Given the description of an element on the screen output the (x, y) to click on. 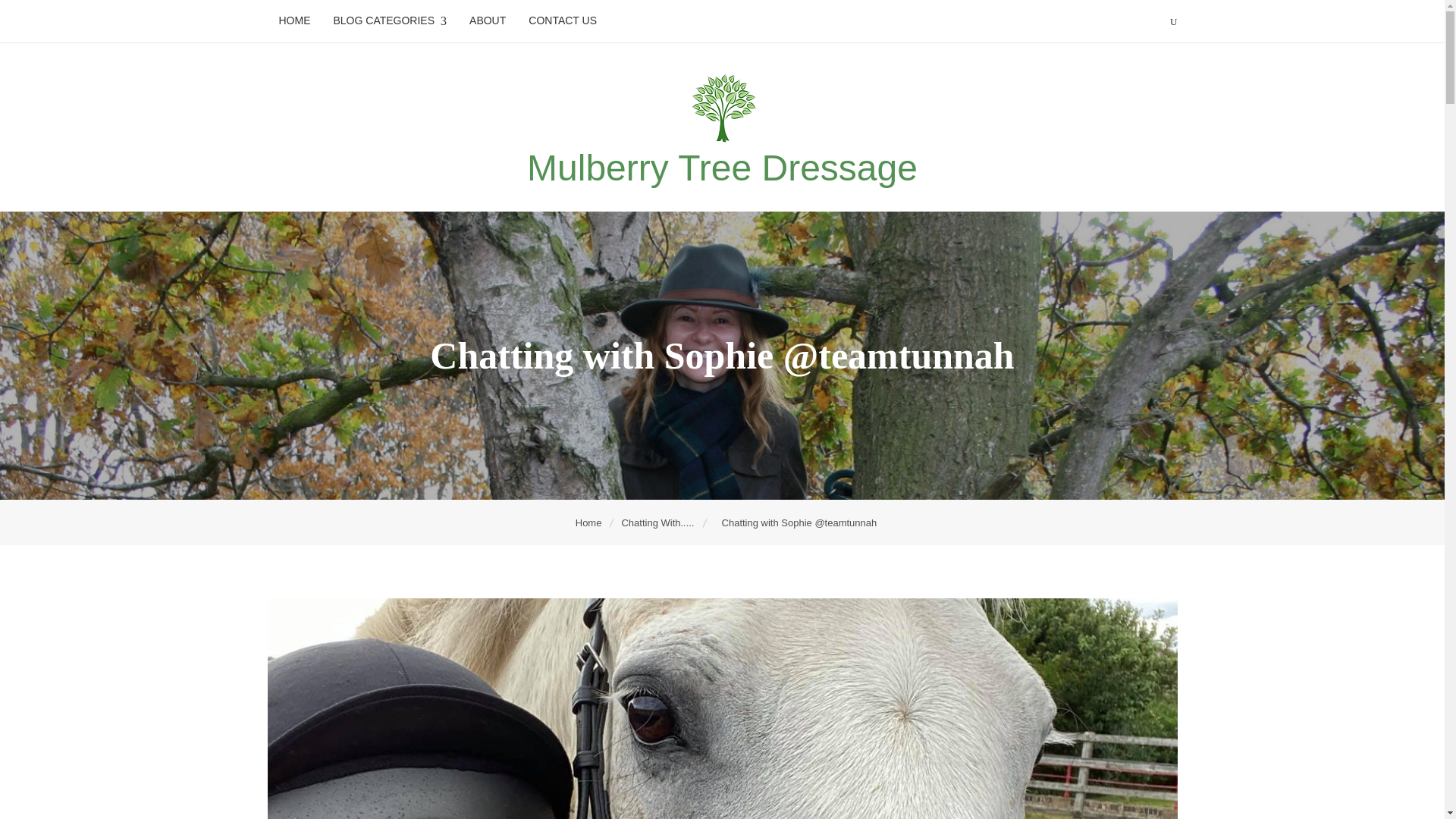
HOME (293, 20)
Home (589, 522)
Search (113, 15)
Search (341, 18)
Chatting With..... (658, 522)
ABOUT (487, 20)
CONTACT US (562, 20)
BLOG CATEGORIES (389, 21)
Mulberry Tree Dressage (722, 168)
